Given the description of an element on the screen output the (x, y) to click on. 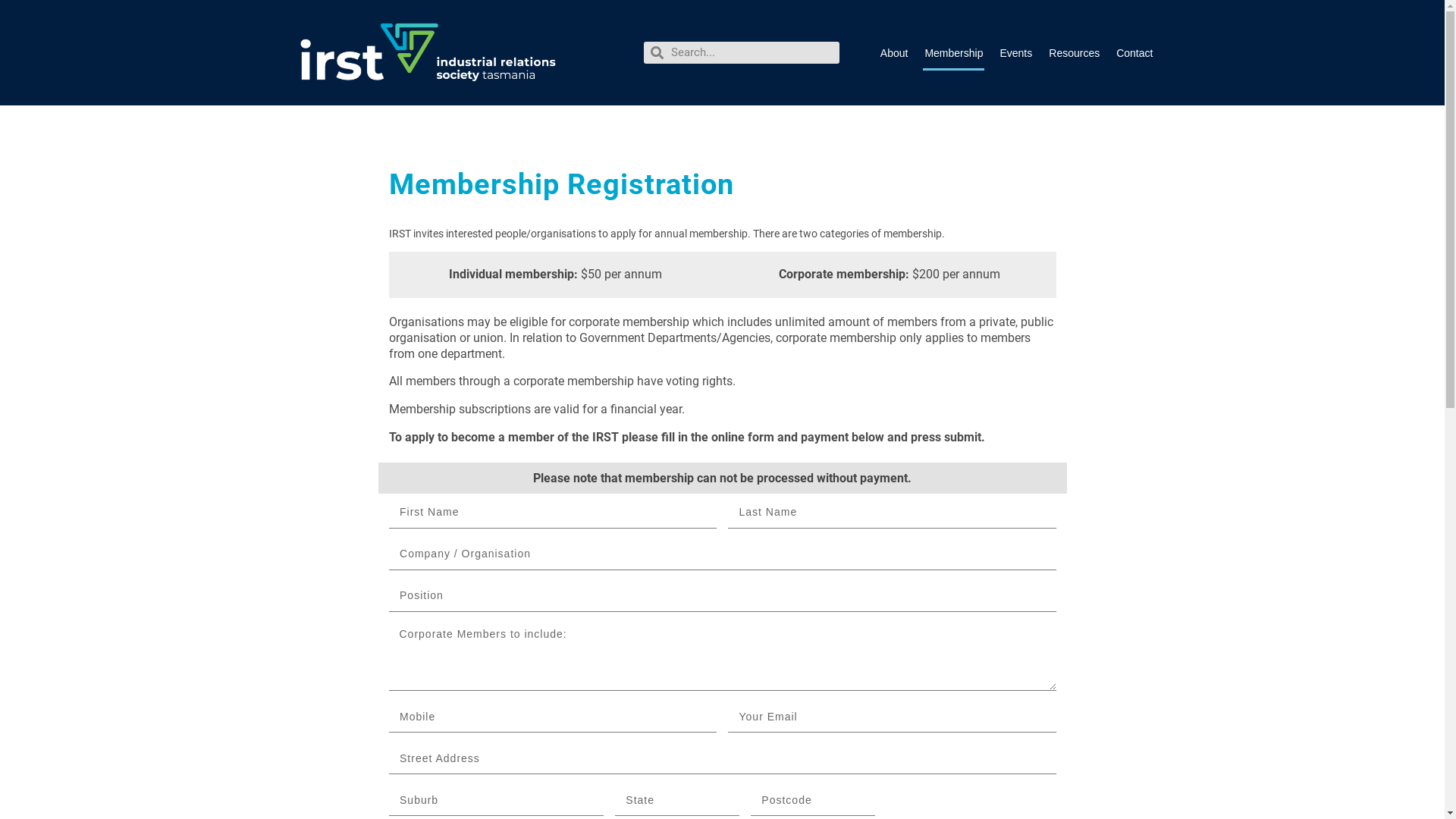
Resources Element type: text (1074, 51)
About Element type: text (894, 51)
Membership Element type: text (953, 51)
Events Element type: text (1015, 51)
Contact Element type: text (1134, 51)
